Given the description of an element on the screen output the (x, y) to click on. 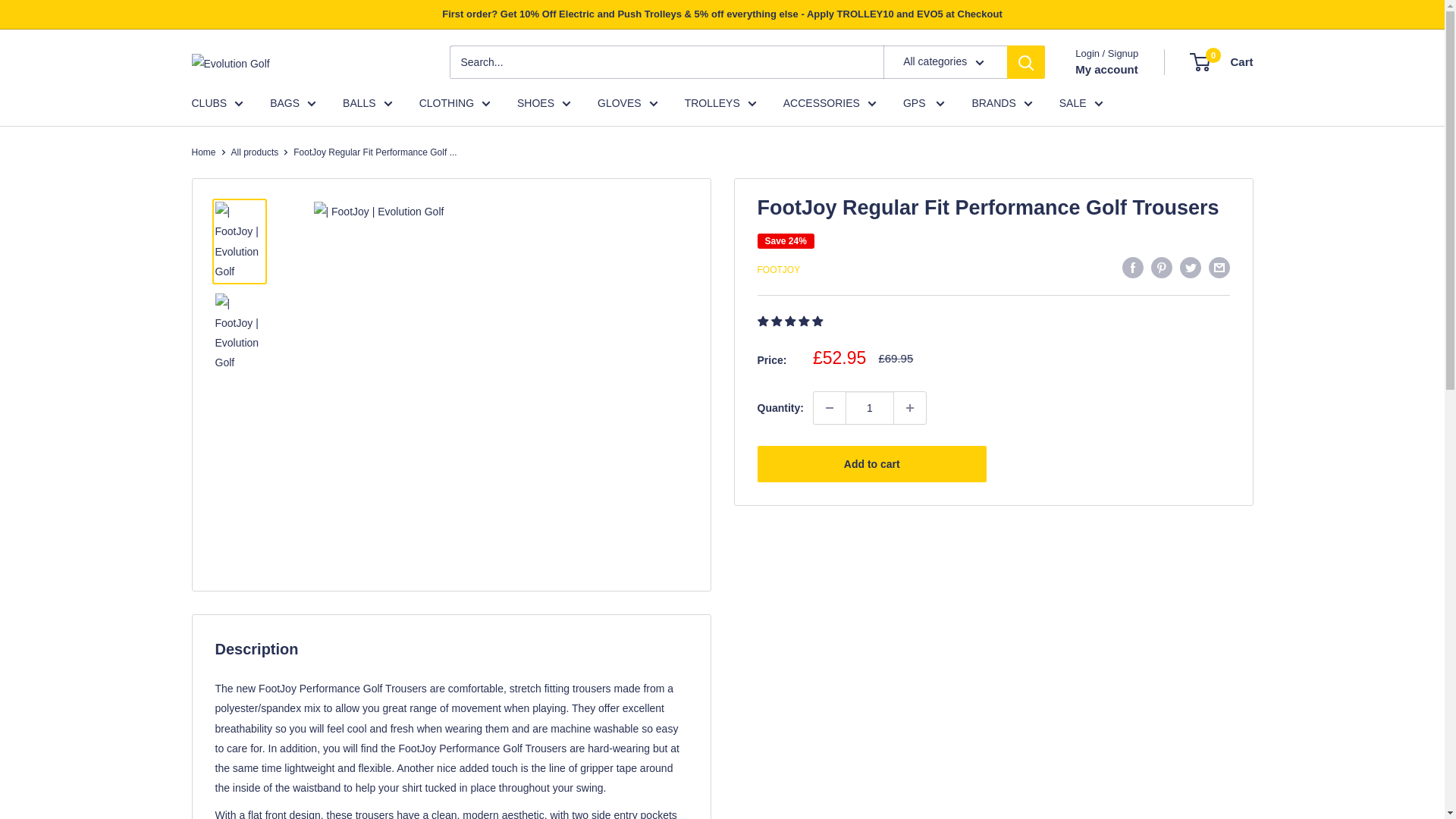
Increase quantity by 1 (909, 408)
1 (869, 408)
Decrease quantity by 1 (829, 408)
